Given the description of an element on the screen output the (x, y) to click on. 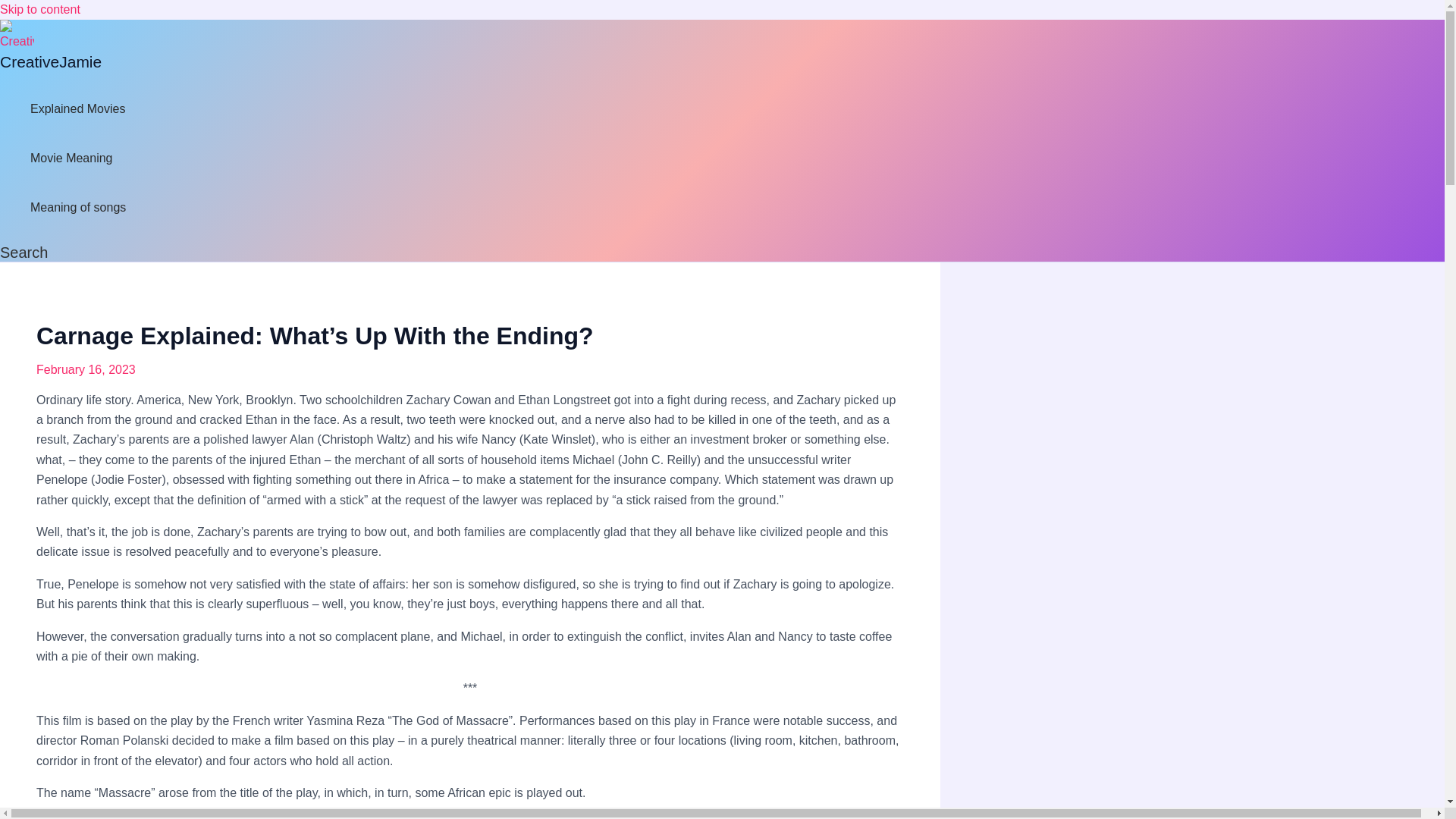
Meaning of songs (77, 206)
Movie Meaning (77, 157)
Skip to content (40, 9)
CreativeJamie (50, 61)
Search (24, 252)
Explained Movies (77, 108)
Skip to content (40, 9)
